Given the description of an element on the screen output the (x, y) to click on. 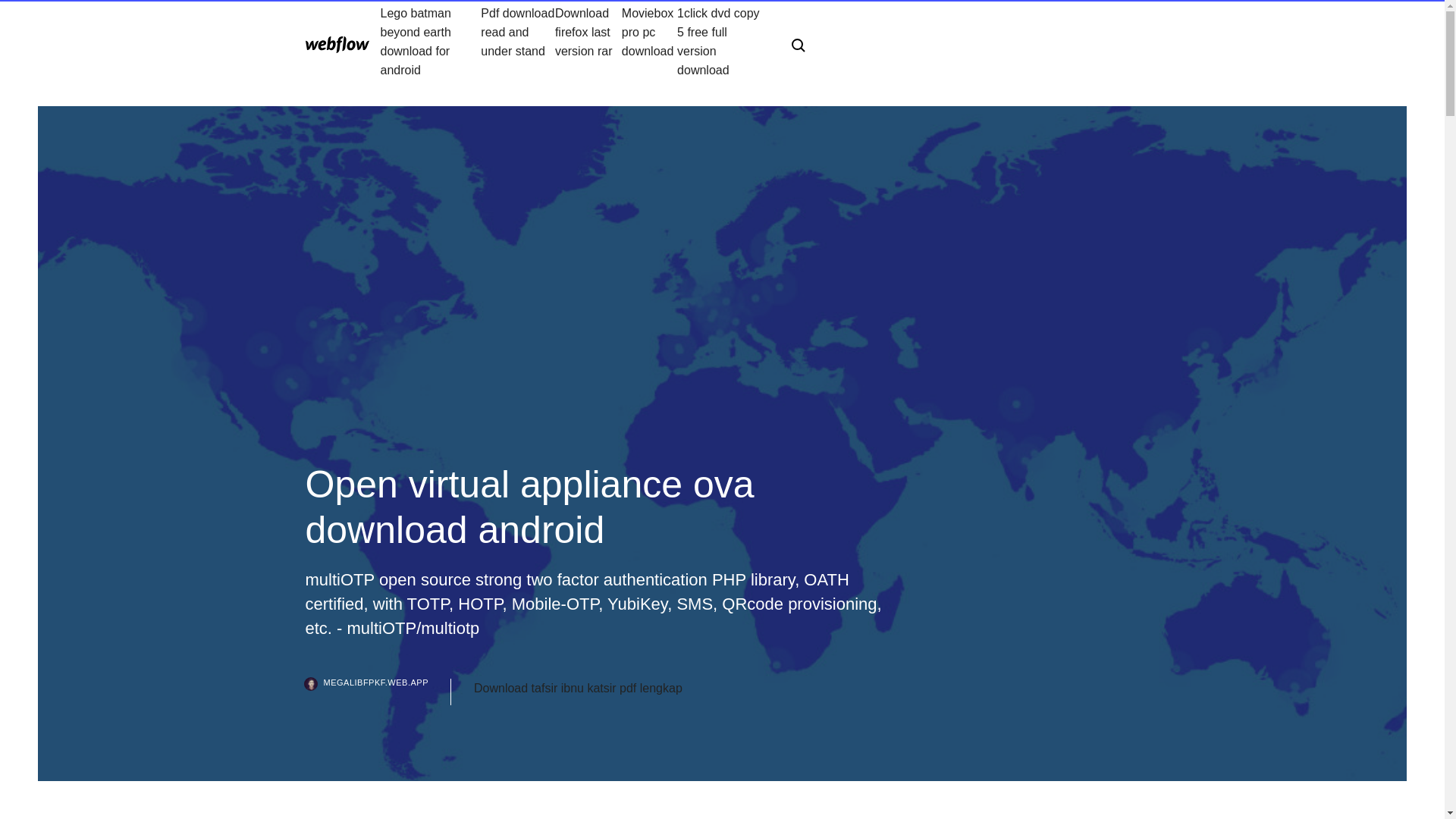
1click dvd copy 5 free full version download (722, 41)
Moviebox pro pc download (649, 41)
Lego batman beyond earth download for android (430, 41)
MEGALIBFPKF.WEB.APP (376, 691)
Download firefox last version rar (587, 41)
Pdf download read and under stand (517, 41)
Download tafsir ibnu katsir pdf lengkap (578, 687)
